Given the description of an element on the screen output the (x, y) to click on. 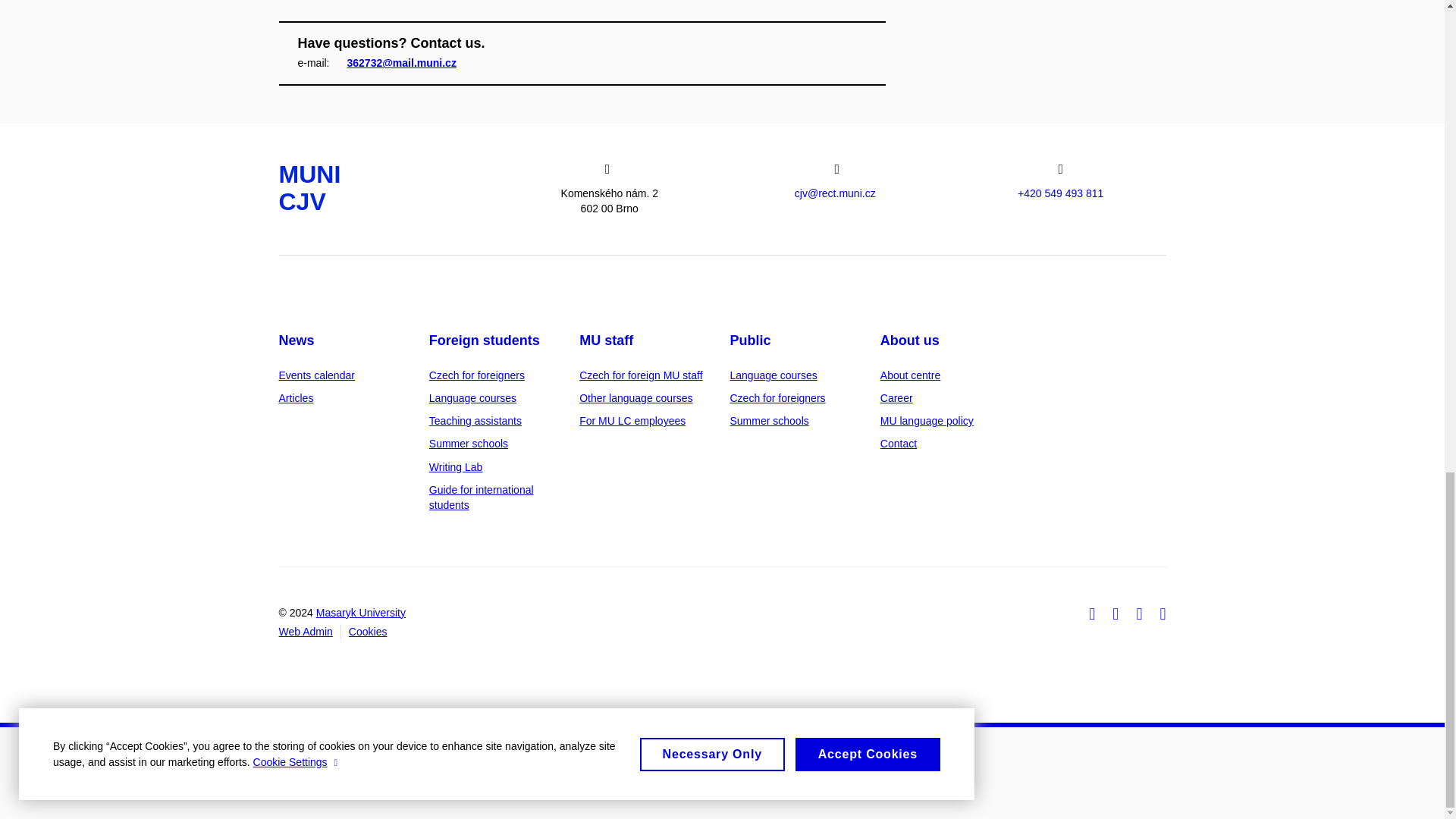
Teaching assistants (475, 420)
Summer schools (468, 443)
For MU LC employees (632, 420)
Czech for foreigners (476, 374)
Foreign students (484, 340)
Articles (296, 398)
News (296, 340)
Writing Lab (456, 467)
Czech for foreign MU staff (640, 374)
MU staff (606, 340)
Public (749, 340)
Language courses (472, 398)
Guide for international students (481, 497)
Events calendar (317, 374)
Other language courses (636, 398)
